Given the description of an element on the screen output the (x, y) to click on. 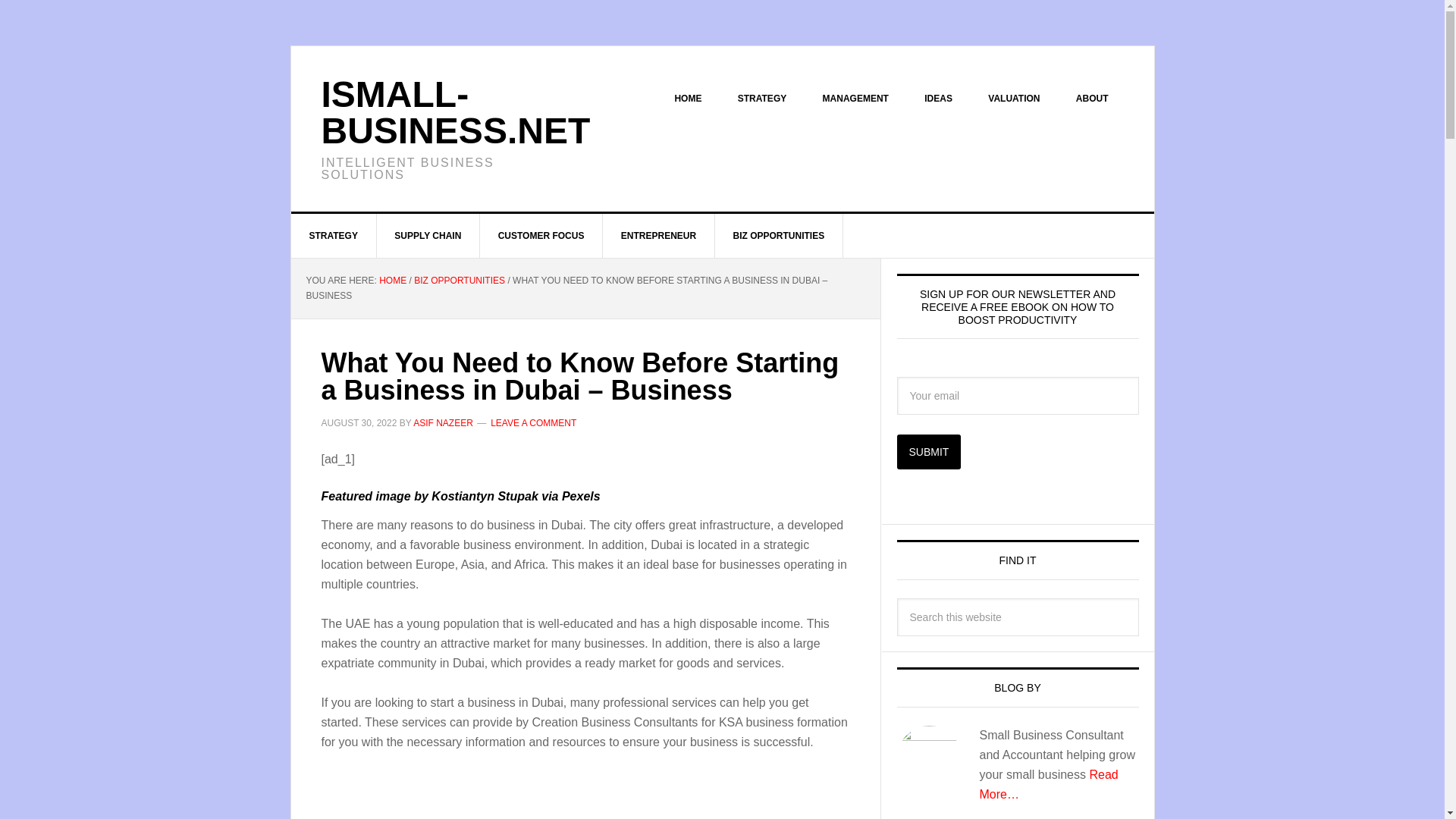
ISMALL-BUSINESS.NET (456, 112)
IDEAS (938, 98)
HOME (687, 98)
A Week In Dubai Costs... (510, 795)
MANAGEMENT (856, 98)
STRATEGY (762, 98)
